Given the description of an element on the screen output the (x, y) to click on. 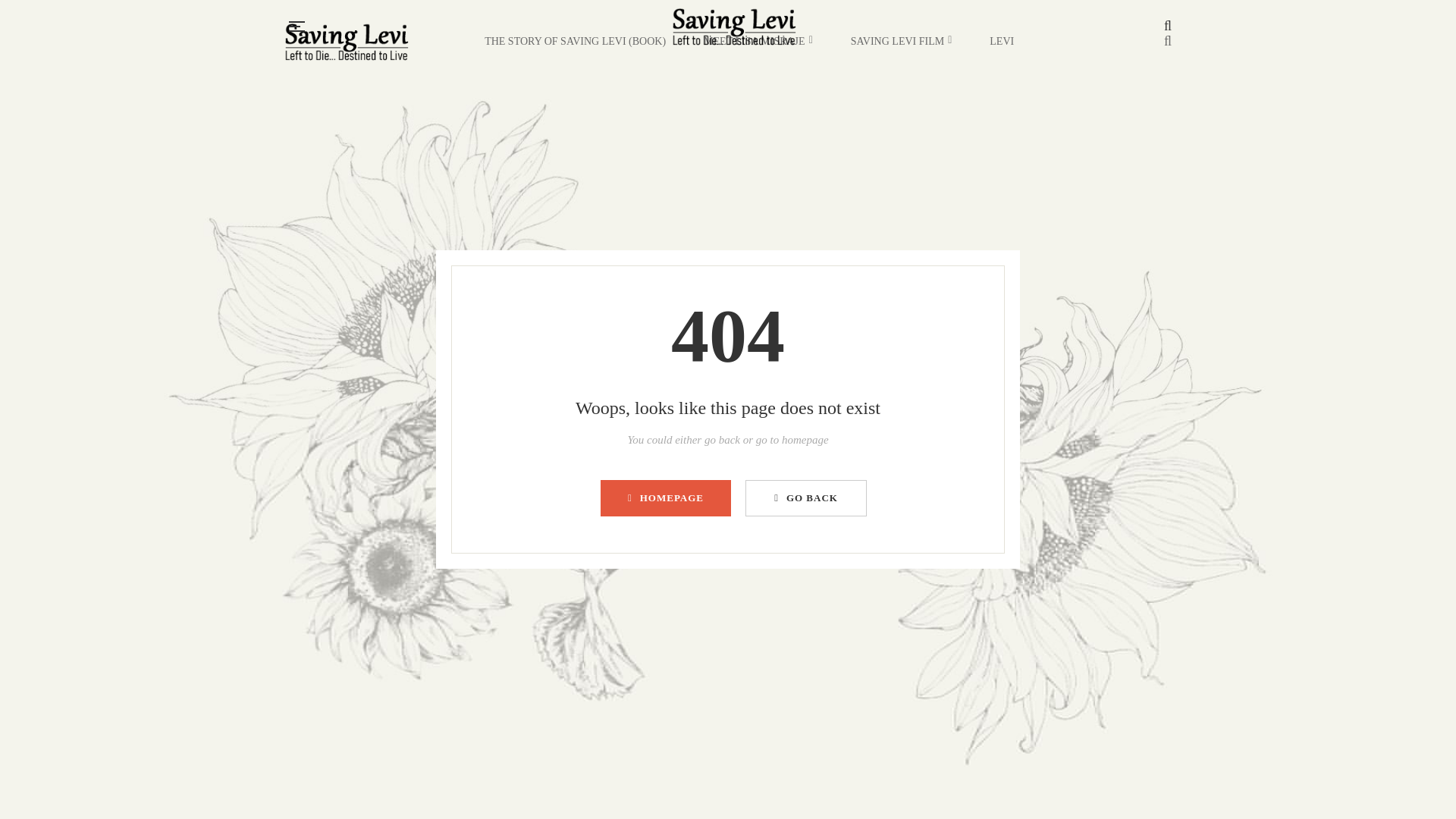
MEET LISA MISRAJE (757, 41)
GO BACK (805, 497)
Homepage (805, 497)
HOMEPAGE (664, 497)
SAVING LEVI FILM (901, 41)
Homepage (664, 497)
